Given the description of an element on the screen output the (x, y) to click on. 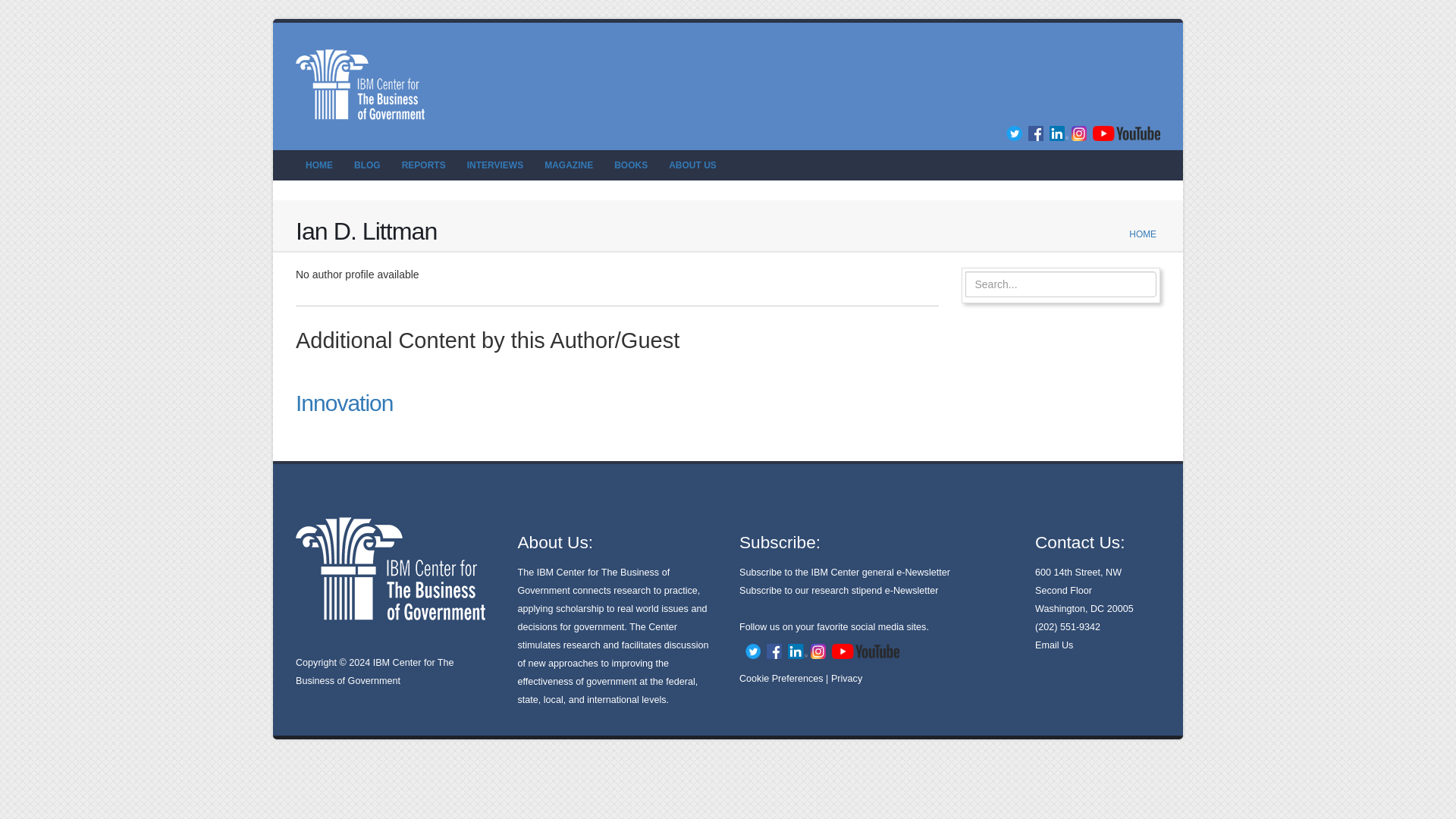
Privacy (846, 678)
REPORTS (423, 164)
Cookie Preferences (781, 678)
Subscribe to the IBM Center general e-Newsletter (844, 572)
Innovation (344, 402)
ABOUT US (692, 164)
INTERVIEWS (494, 164)
Subscribe to our research stipend e-Newsletter (839, 590)
HOME (1142, 234)
BOOKS (631, 164)
